Given the description of an element on the screen output the (x, y) to click on. 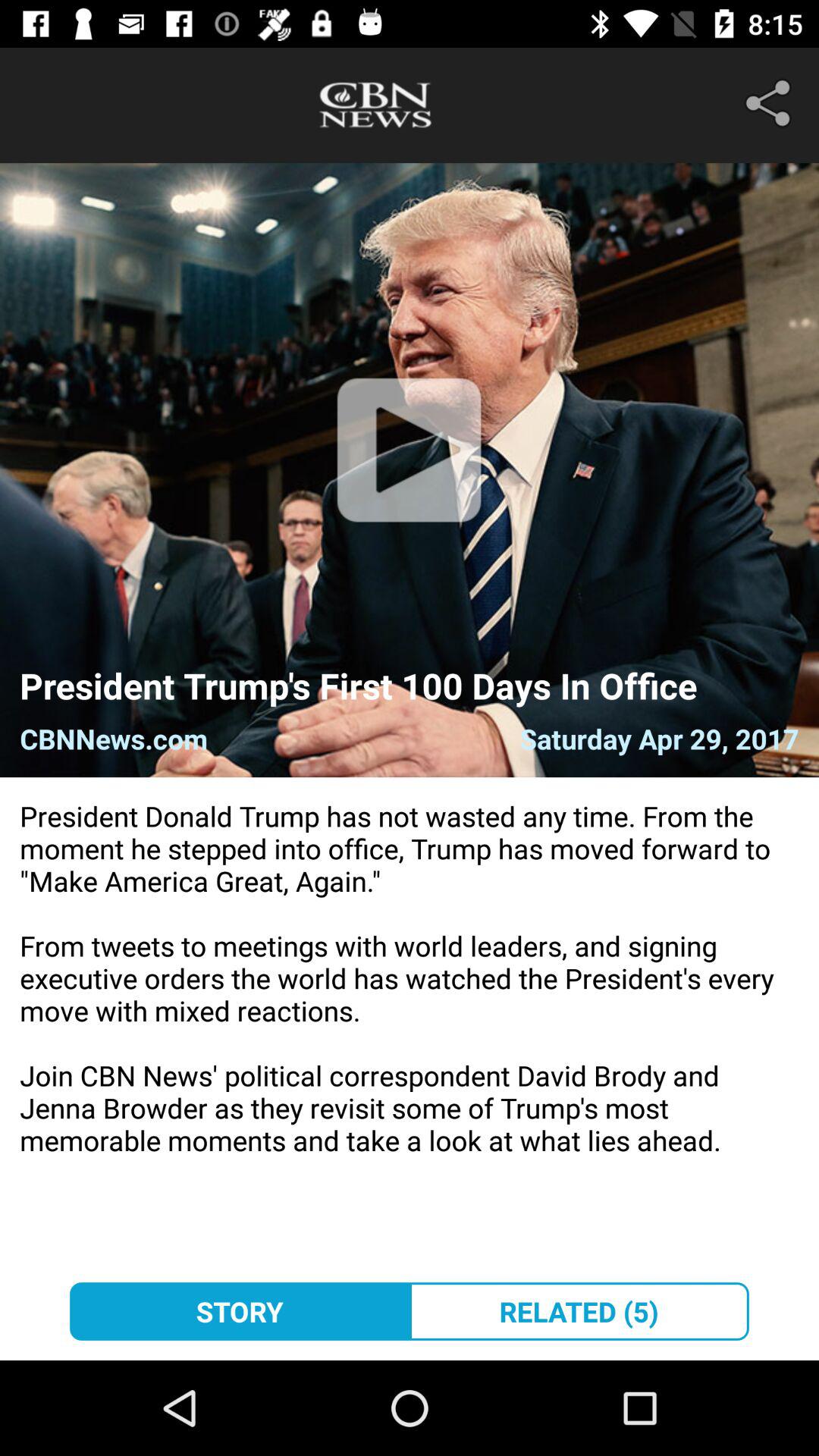
turn on item at the top right corner (771, 103)
